Given the description of an element on the screen output the (x, y) to click on. 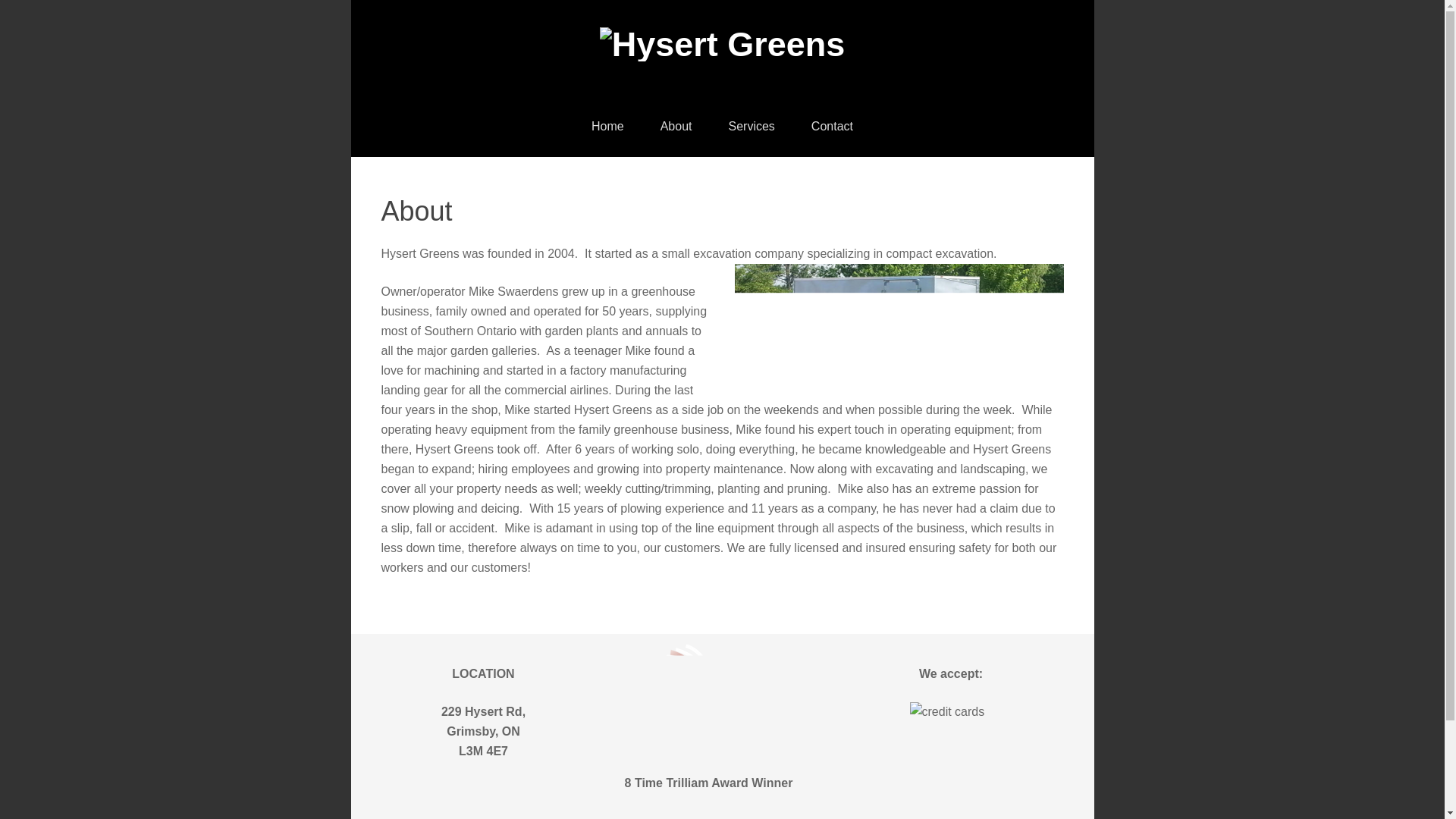
Home (607, 126)
About (676, 126)
Services (751, 126)
Contact (831, 126)
Hysert Greens (722, 44)
